Given the description of an element on the screen output the (x, y) to click on. 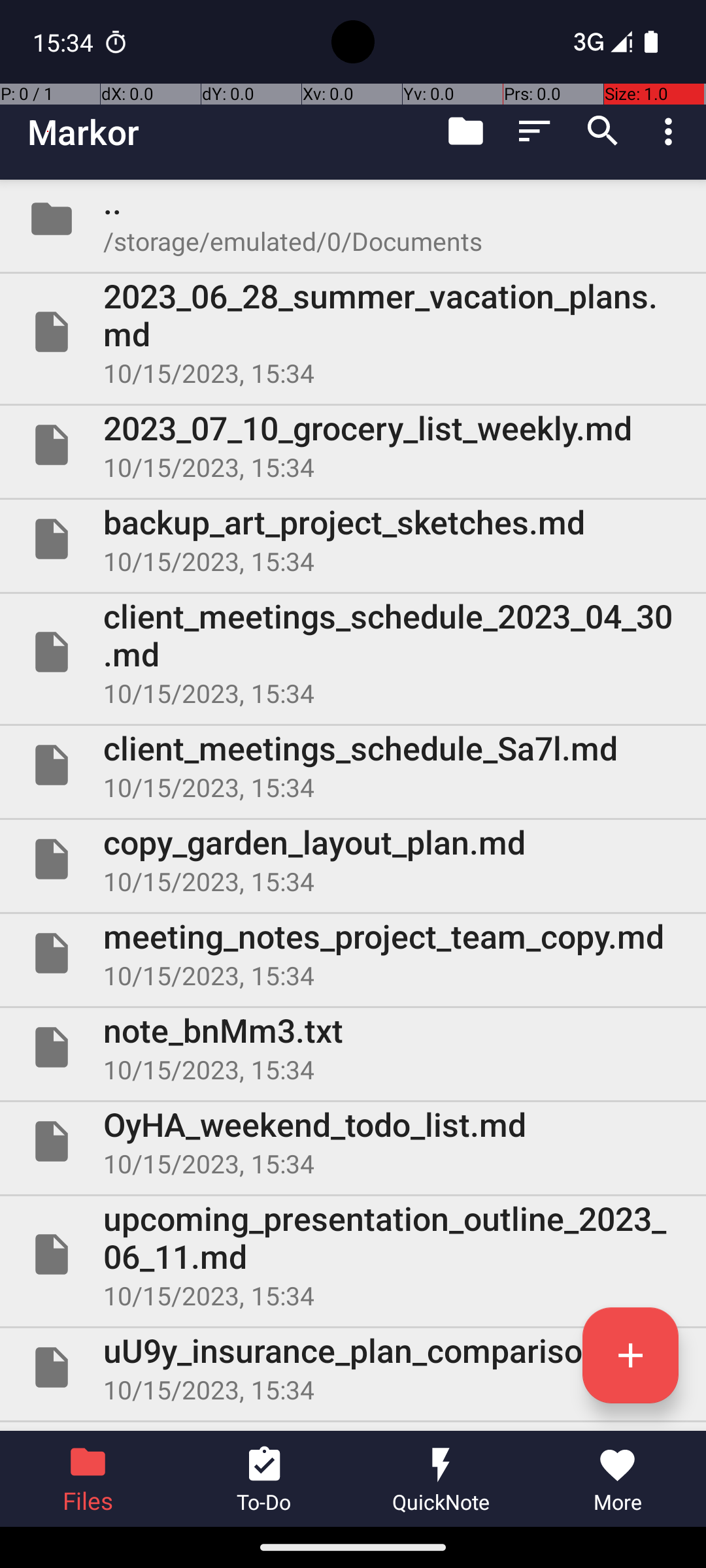
File 2023_06_28_summer_vacation_plans.md  Element type: android.widget.LinearLayout (353, 331)
File 2023_07_10_grocery_list_weekly.md  Element type: android.widget.LinearLayout (353, 444)
File backup_art_project_sketches.md  Element type: android.widget.LinearLayout (353, 538)
File client_meetings_schedule_2023_04_30.md  Element type: android.widget.LinearLayout (353, 651)
File client_meetings_schedule_Sa7l.md  Element type: android.widget.LinearLayout (353, 764)
File copy_garden_layout_plan.md  Element type: android.widget.LinearLayout (353, 858)
File meeting_notes_project_team_copy.md  Element type: android.widget.LinearLayout (353, 953)
File note_bnMm3.txt  Element type: android.widget.LinearLayout (353, 1047)
File OyHA_weekend_todo_list.md  Element type: android.widget.LinearLayout (353, 1141)
File upcoming_presentation_outline_2023_06_11.md  Element type: android.widget.LinearLayout (353, 1254)
File uU9y_insurance_plan_comparison.md  Element type: android.widget.LinearLayout (353, 1367)
File weekend_todo_list_Rx78.md  Element type: android.widget.LinearLayout (353, 1426)
